Given the description of an element on the screen output the (x, y) to click on. 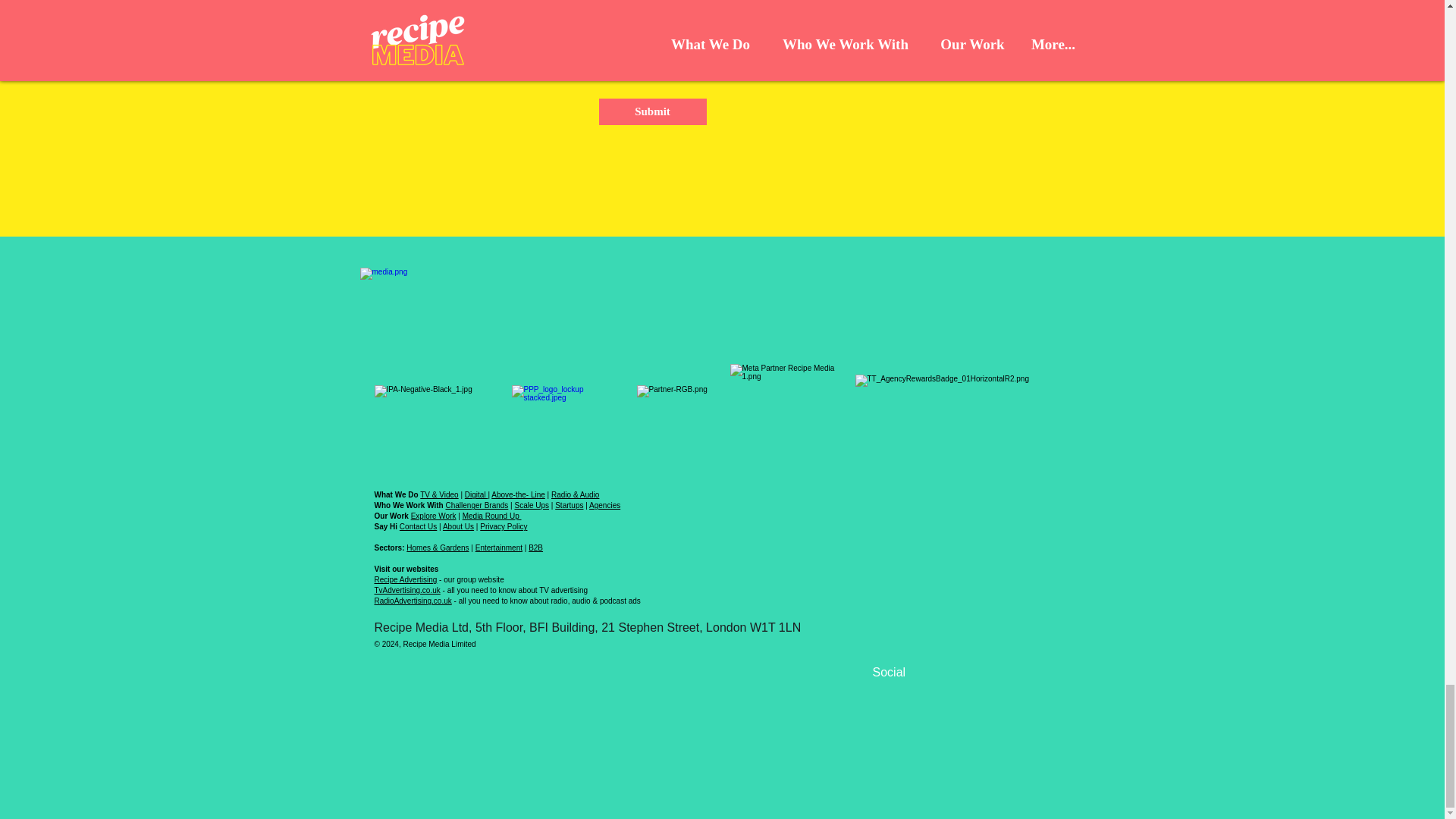
About Us (458, 526)
Digital (475, 494)
Explore Work (433, 515)
Submit (652, 111)
Media Round Up  (492, 515)
Scale Ups (530, 505)
Agencies (604, 505)
Above-the- Line (518, 494)
Contact Us (417, 526)
Startups (568, 505)
Challenger Brands (476, 505)
